Given the description of an element on the screen output the (x, y) to click on. 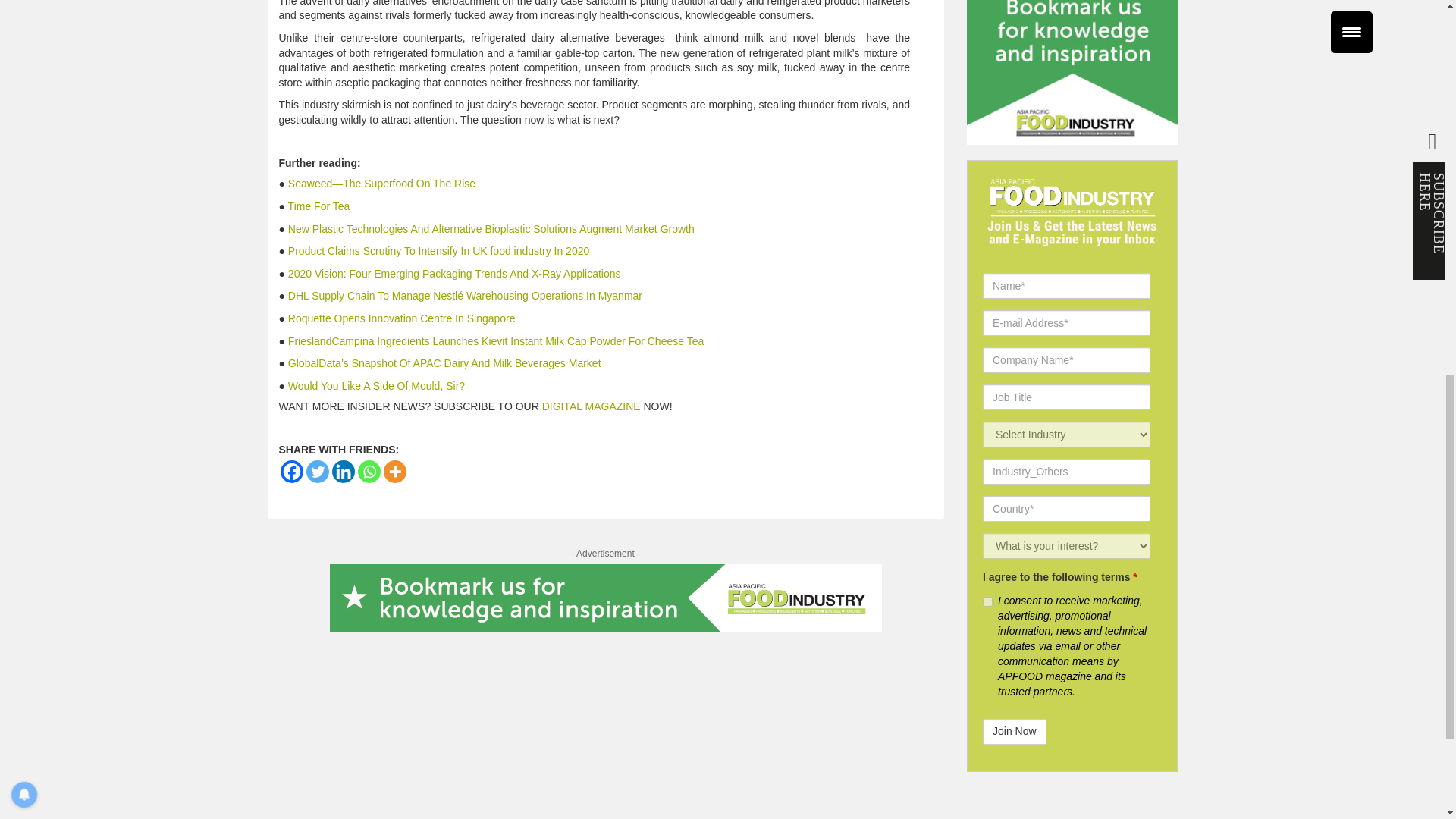
Time For Tea (319, 205)
Join Now (1014, 731)
